Given the description of an element on the screen output the (x, y) to click on. 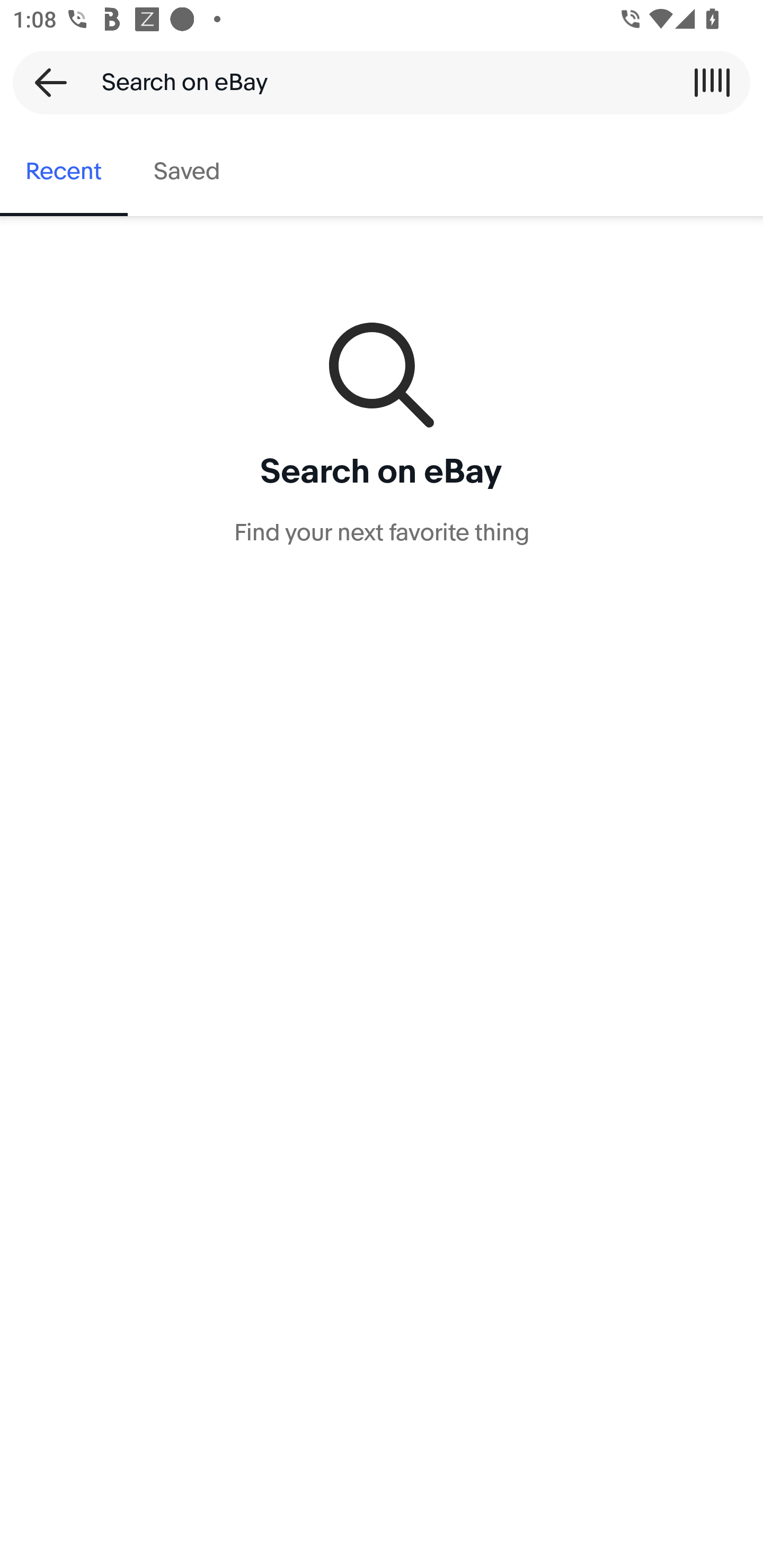
Back (44, 82)
Scan a barcode (711, 82)
Search on eBay (375, 82)
Saved, tab 2 of 2 Saved (186, 171)
